Given the description of an element on the screen output the (x, y) to click on. 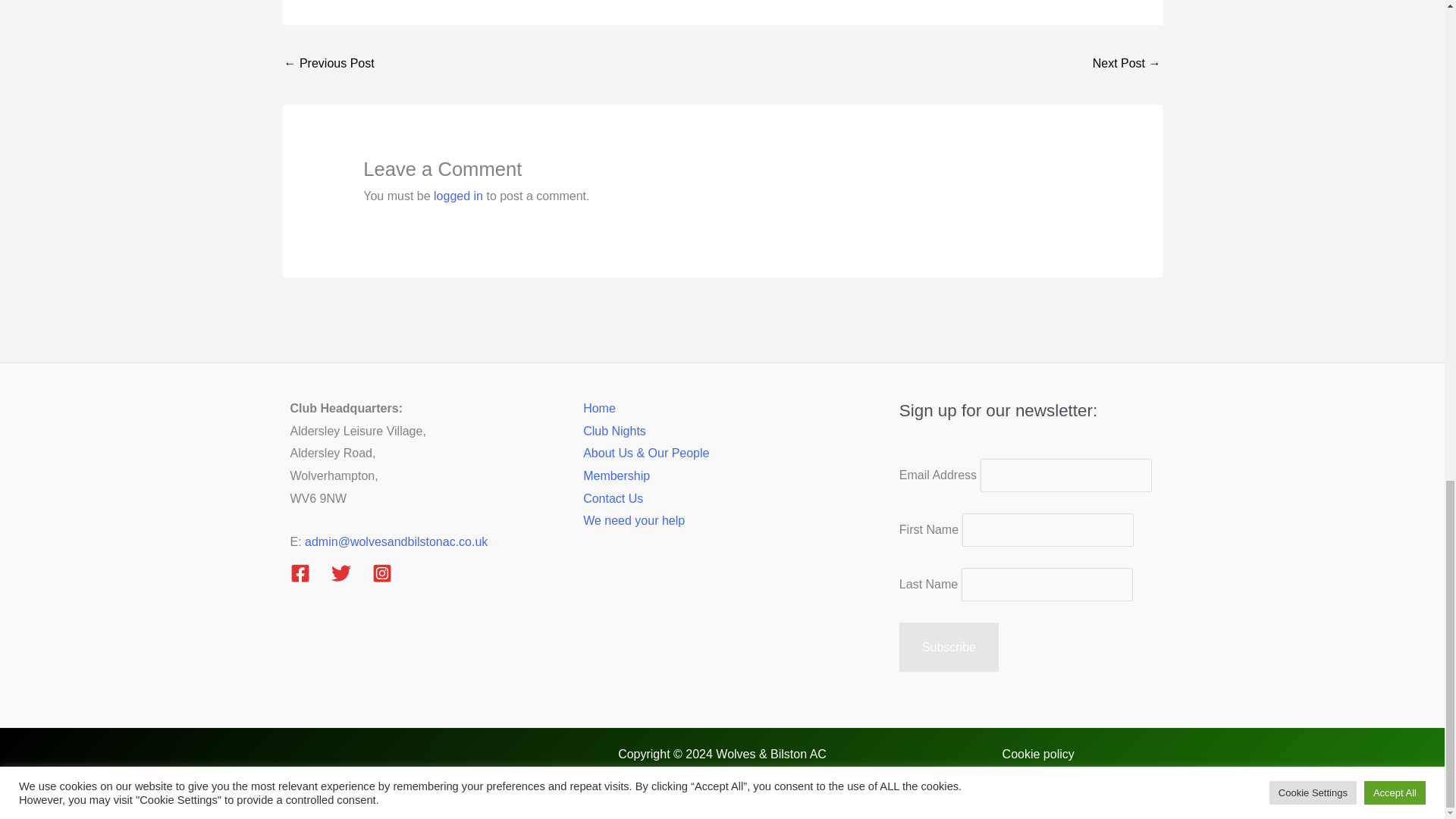
Jamie Runs For England! (328, 64)
Wolves Win In a Canter (1126, 64)
Subscribe (948, 647)
